Given the description of an element on the screen output the (x, y) to click on. 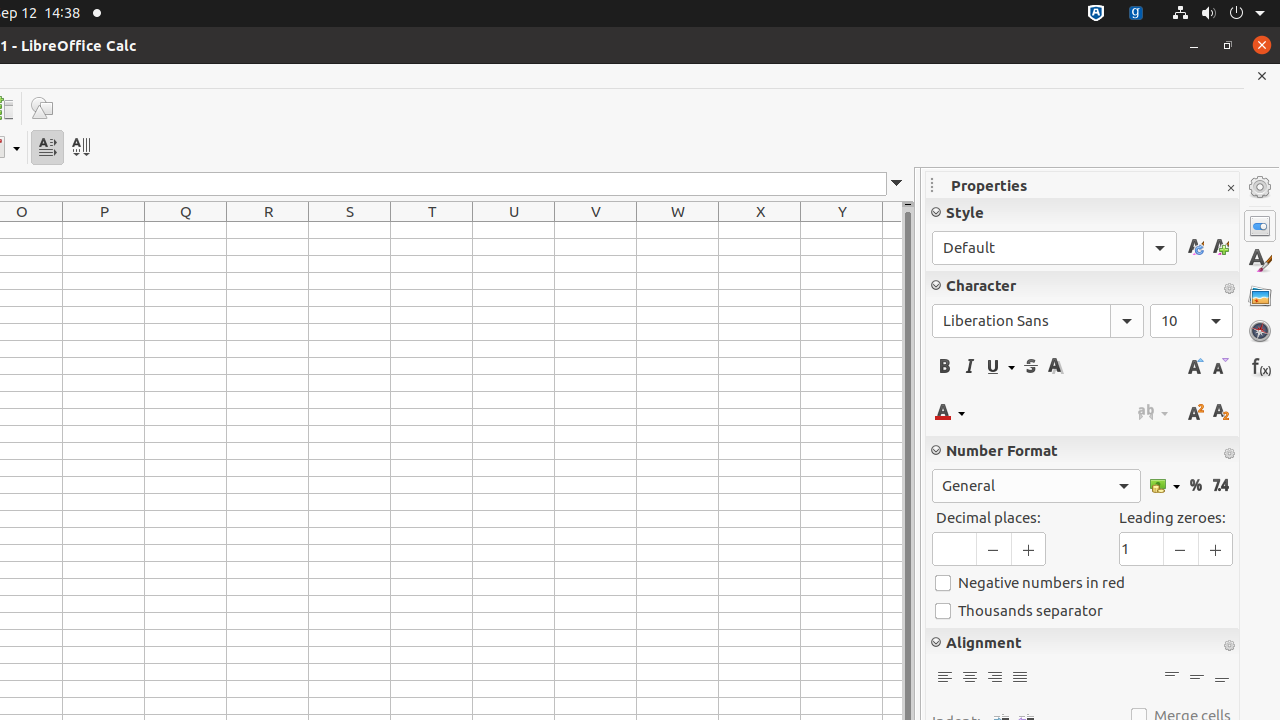
Close Sidebar Deck Element type: push-button (1230, 188)
Percent Element type: toggle-button (1195, 485)
Align Bottom Element type: toggle-button (1221, 677)
Character Spacing Element type: push-button (1153, 412)
S1 Element type: table-cell (350, 230)
